Given the description of an element on the screen output the (x, y) to click on. 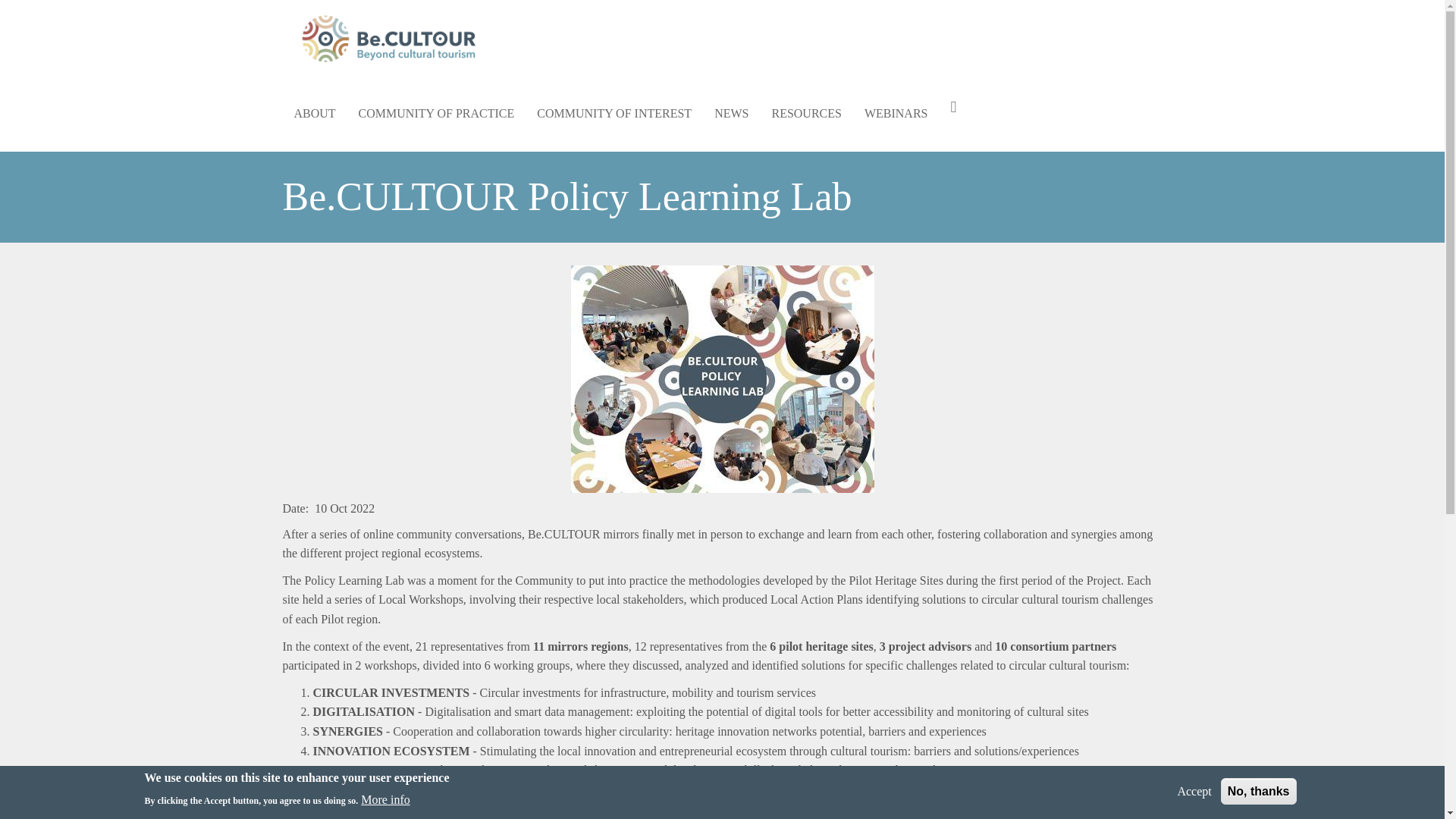
COMMUNITY OF INTEREST (614, 113)
More info (385, 799)
Webinars (896, 113)
WEBINARS (896, 113)
Home (393, 38)
RESOURCES (805, 113)
COMMUNITY OF PRACTICE (436, 113)
